Given the description of an element on the screen output the (x, y) to click on. 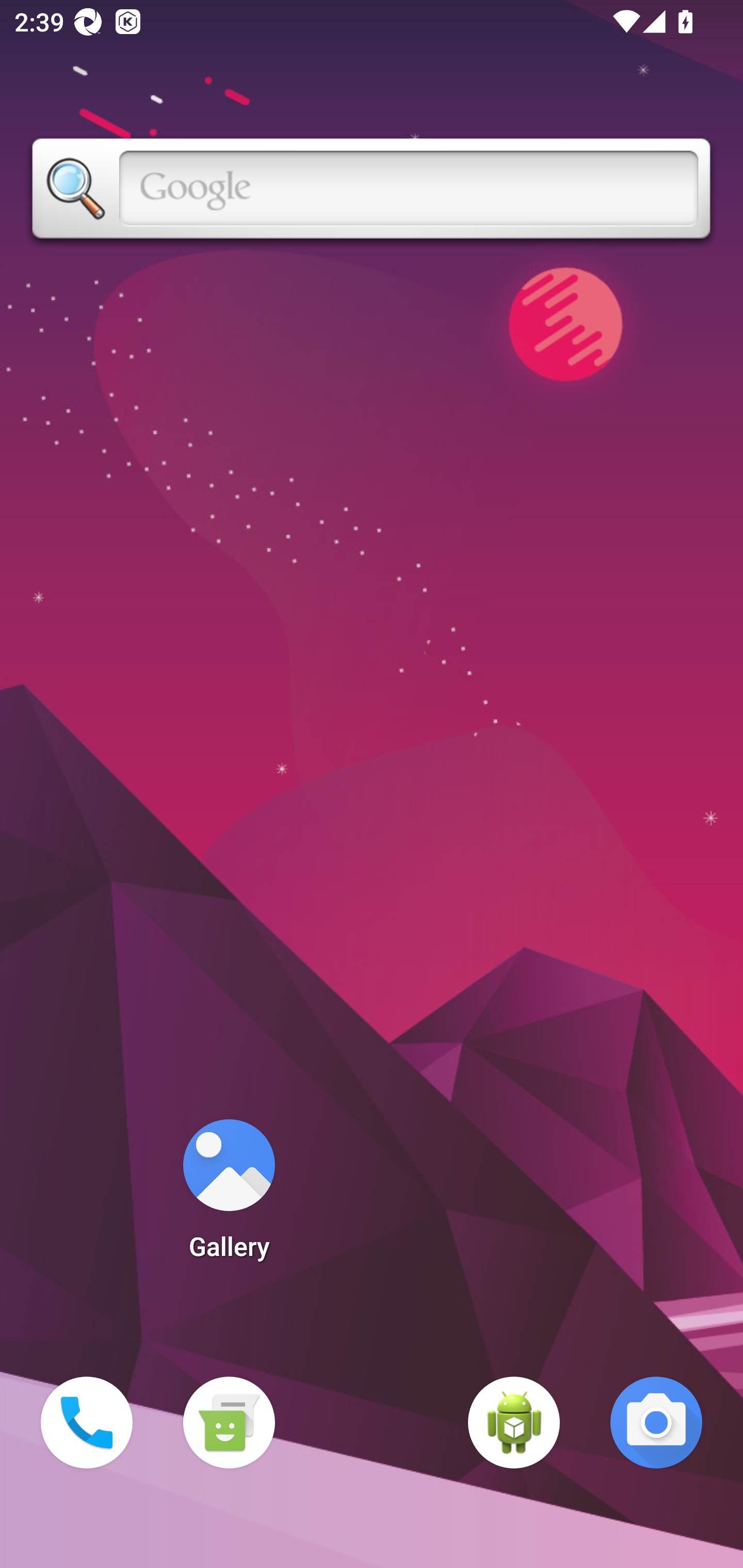
Gallery (228, 1195)
Phone (86, 1422)
Messaging (228, 1422)
WebView Browser Tester (513, 1422)
Camera (656, 1422)
